Given the description of an element on the screen output the (x, y) to click on. 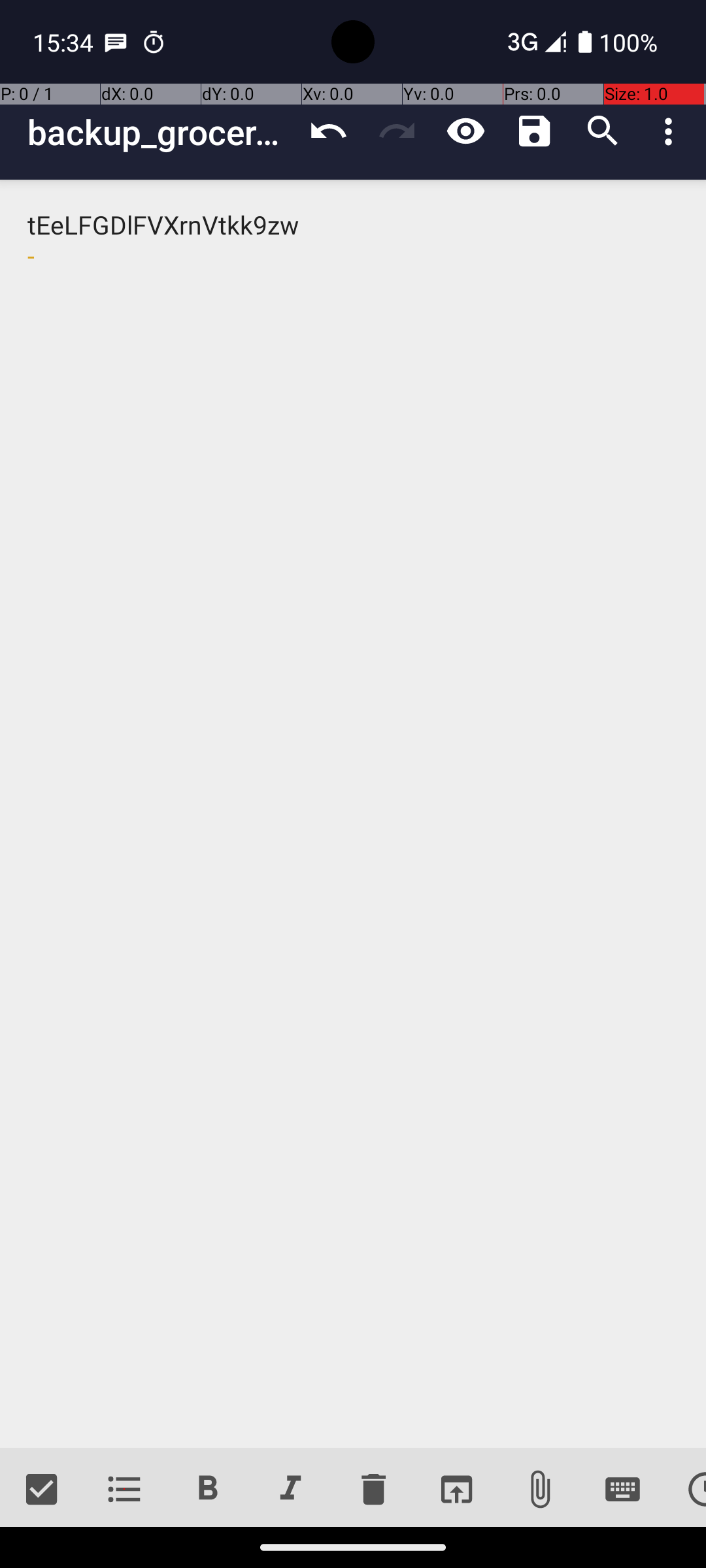
backup_grocery_list_weekly Element type: android.widget.TextView (160, 131)
tEeLFGDlFVXrnVtkk9zw
-  Element type: android.widget.EditText (353, 813)
